Given the description of an element on the screen output the (x, y) to click on. 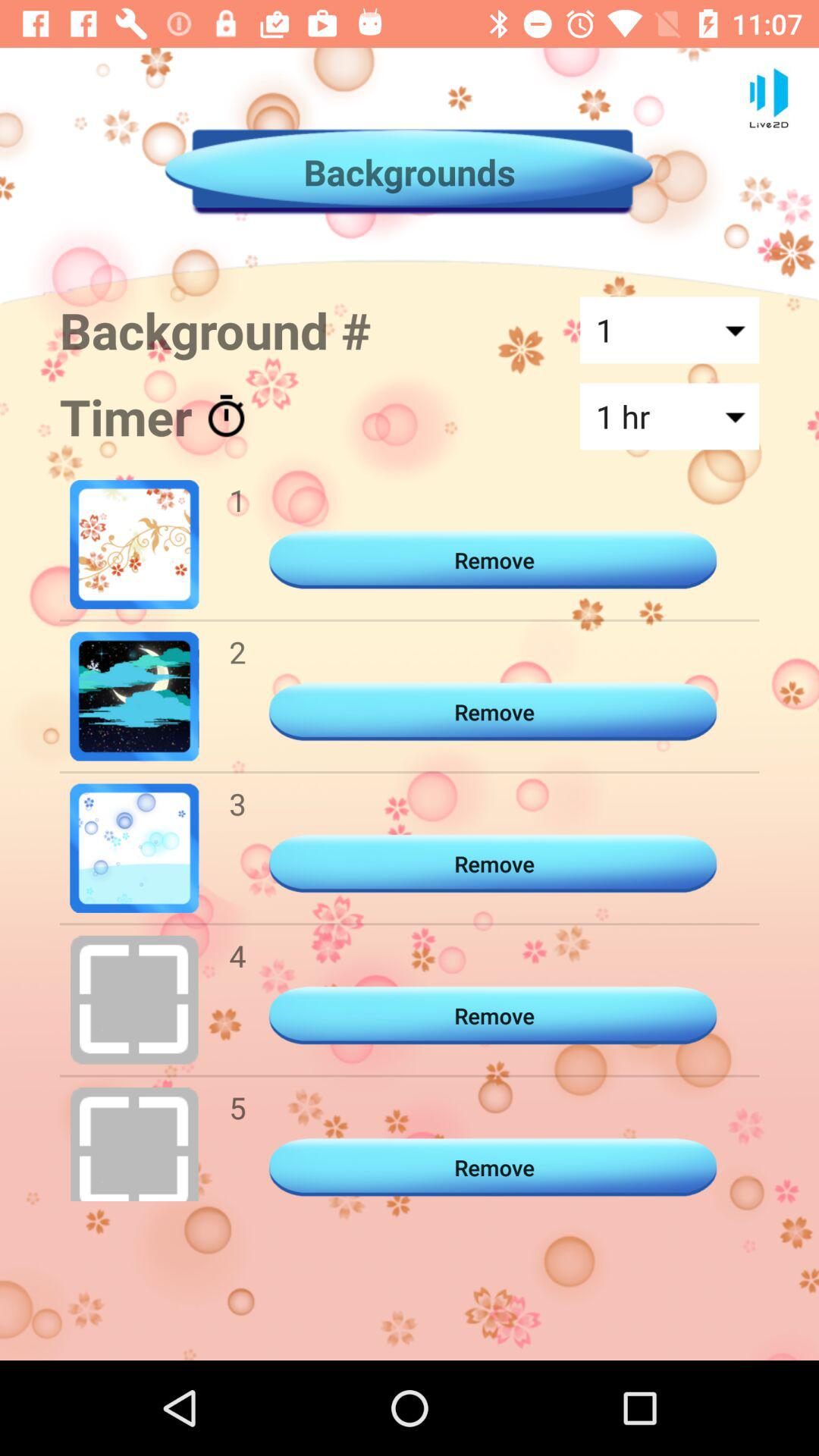
press icon below the 2 (237, 803)
